Given the description of an element on the screen output the (x, y) to click on. 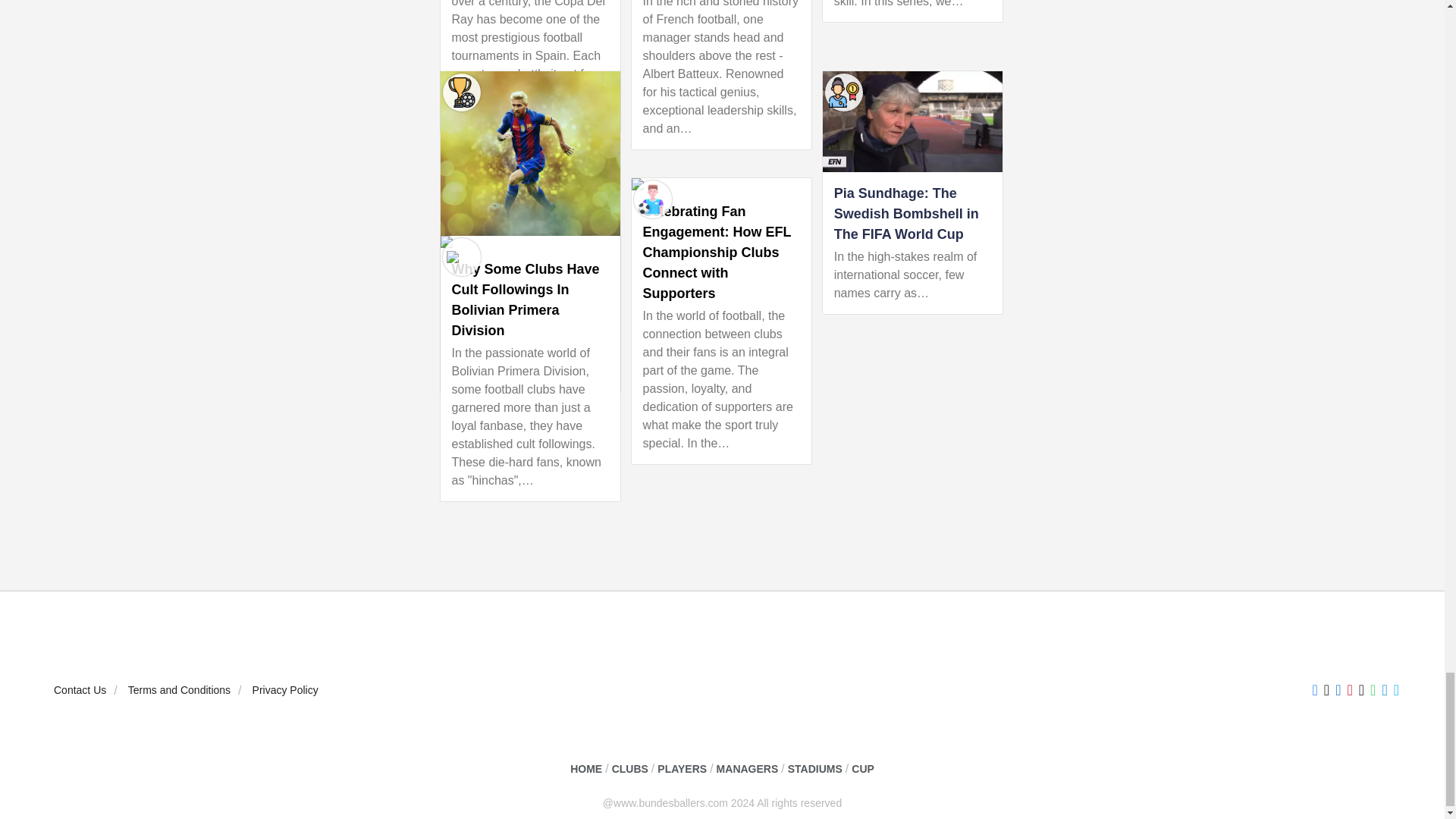
STADIUMS (815, 769)
Terms and Conditions (178, 689)
Contact Us (79, 689)
MANAGERS (747, 769)
PLAYERS (682, 769)
Privacy Policy (284, 689)
